Given the description of an element on the screen output the (x, y) to click on. 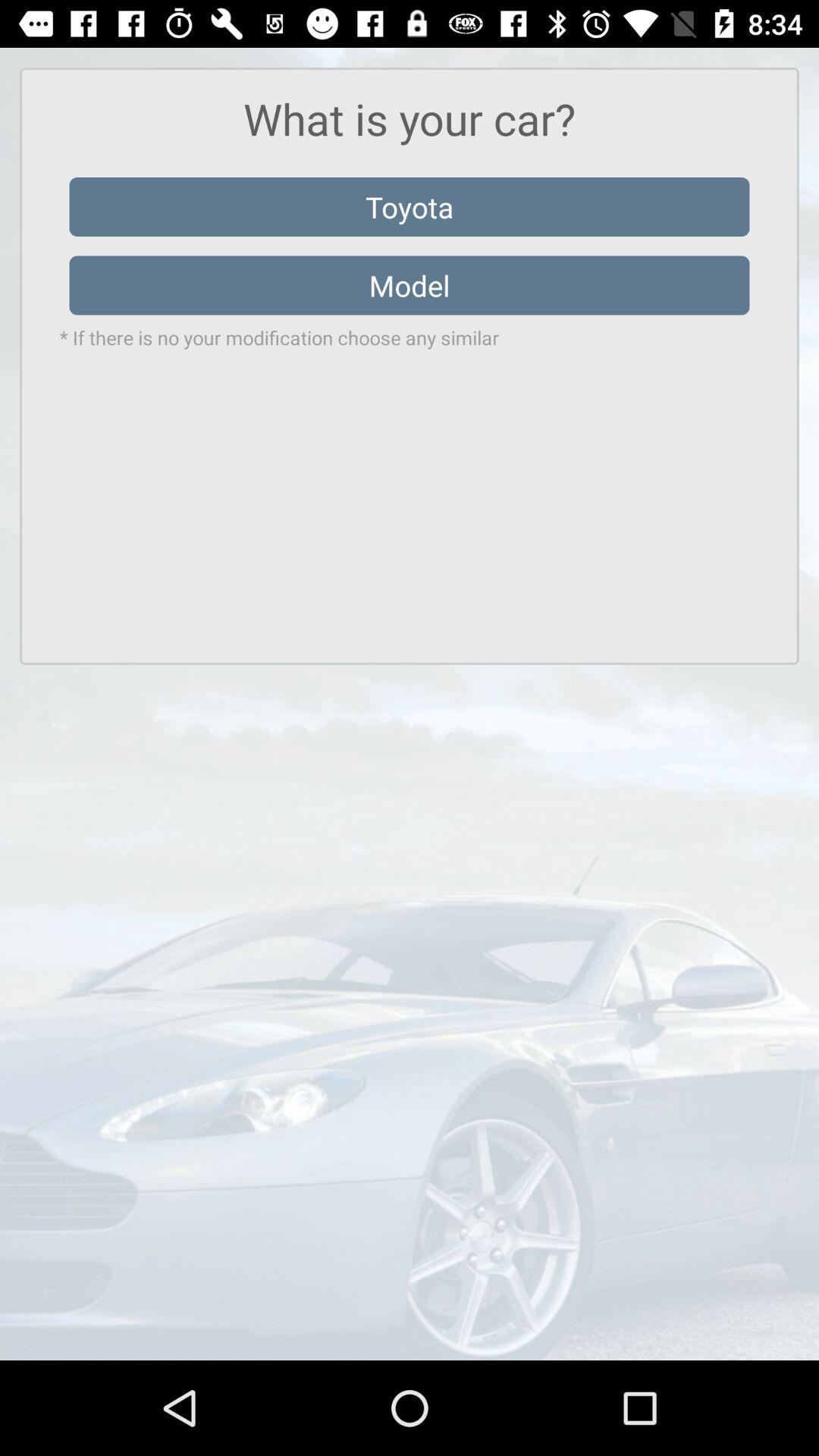
open the item above if there is item (409, 285)
